Given the description of an element on the screen output the (x, y) to click on. 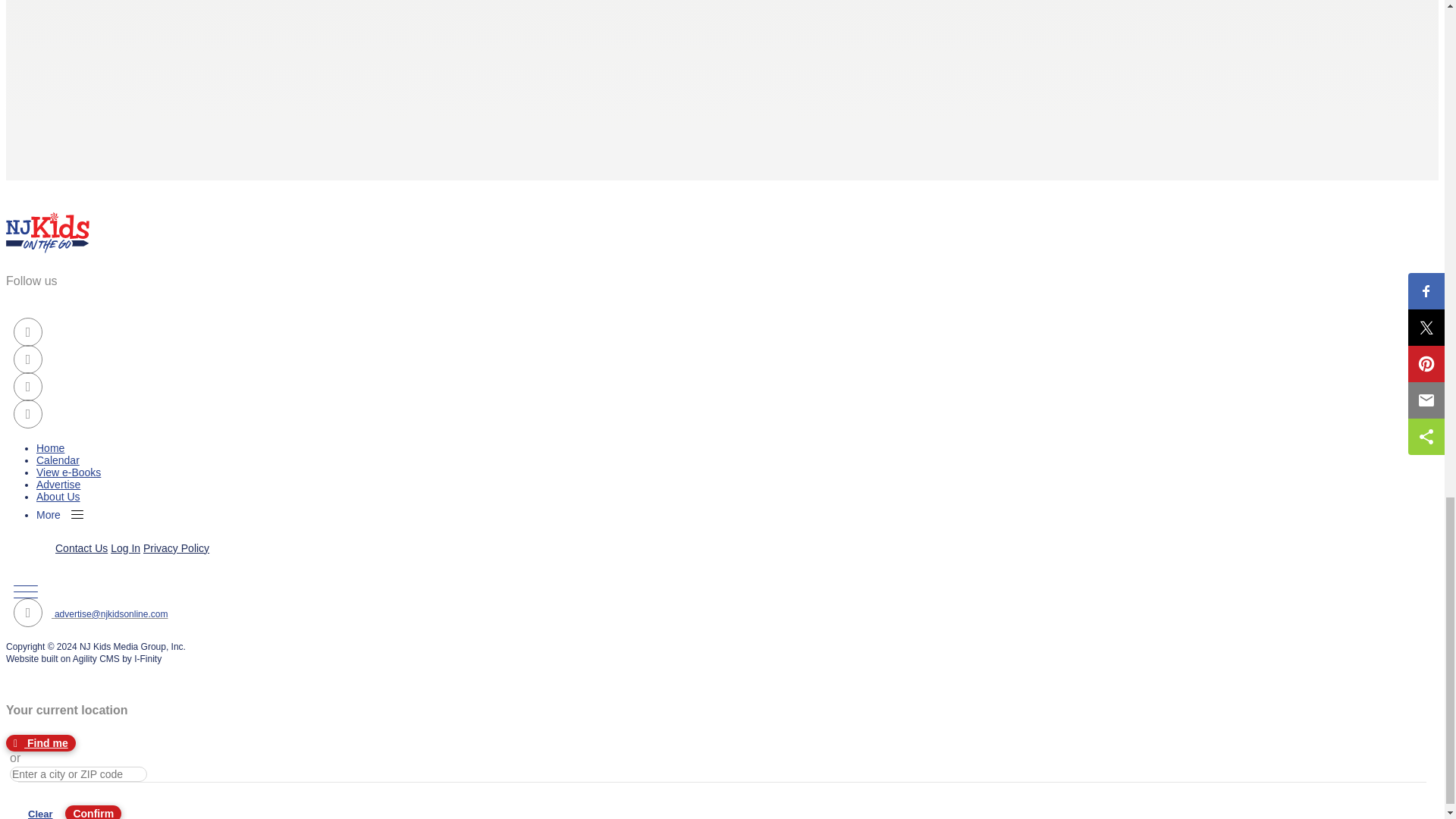
3rd party ad content (721, 61)
